Given the description of an element on the screen output the (x, y) to click on. 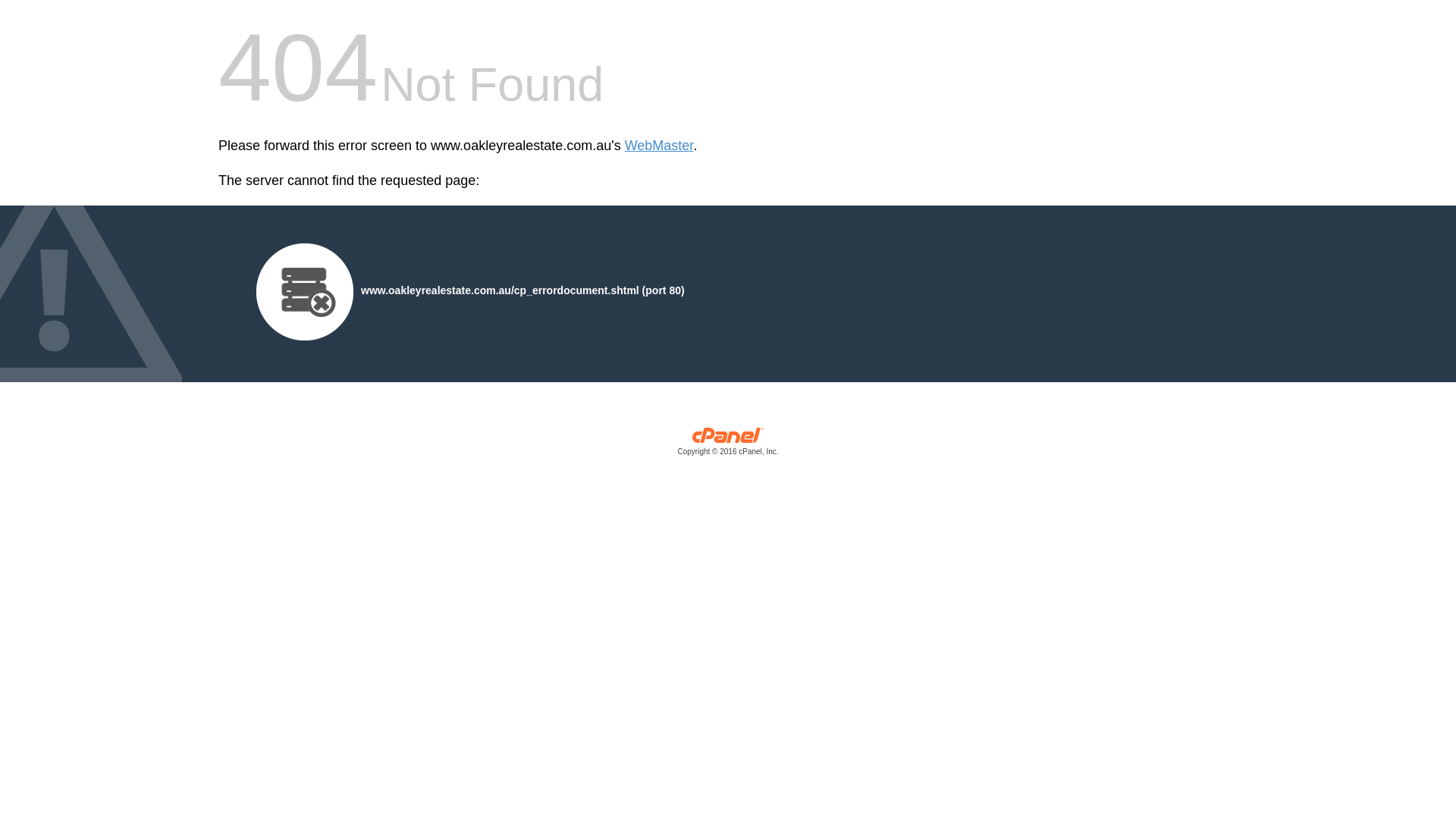
WebMaster Element type: text (658, 145)
